Given the description of an element on the screen output the (x, y) to click on. 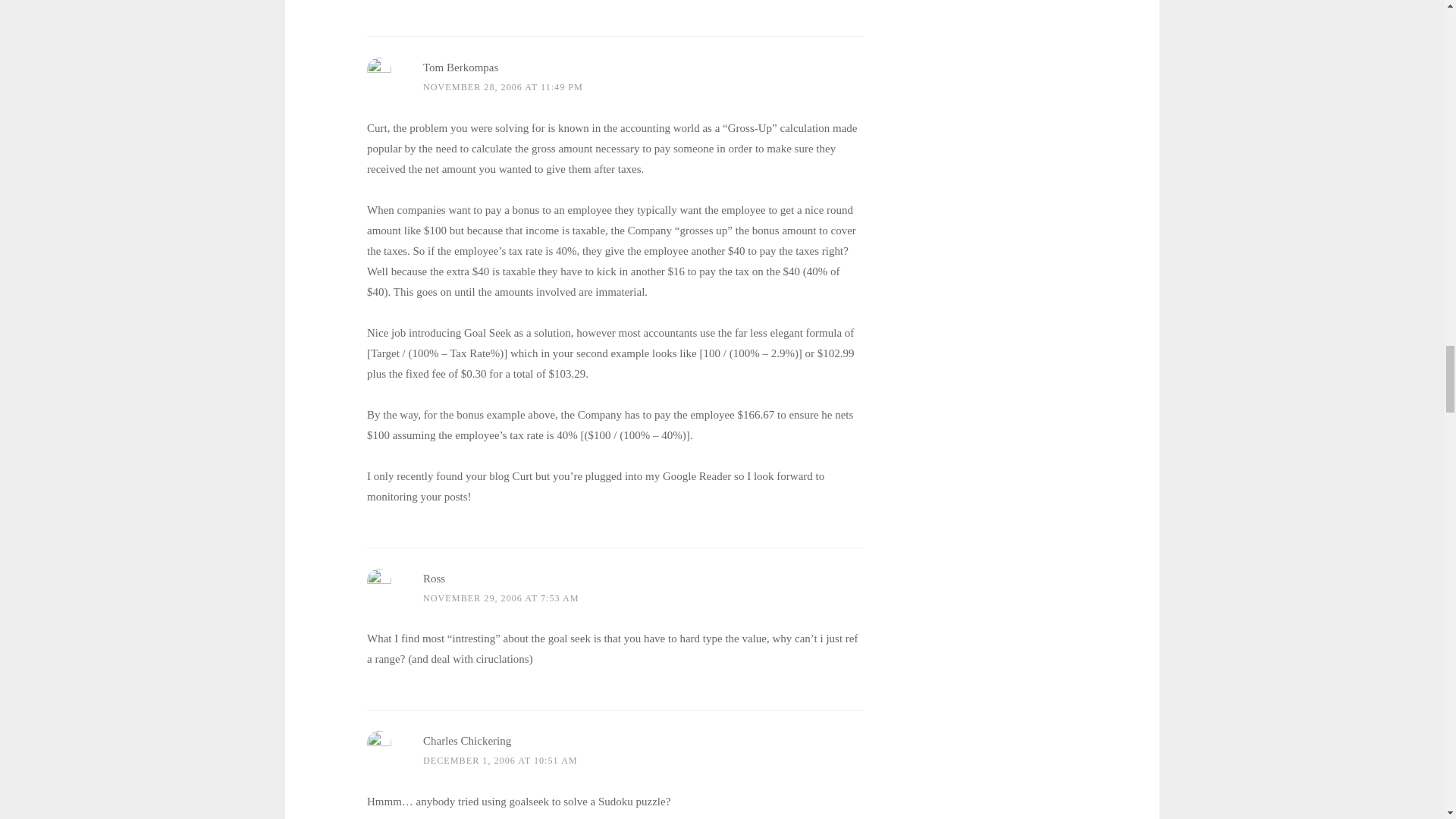
NOVEMBER 28, 2006 AT 11:49 PM (503, 86)
Tom Berkompas (460, 67)
NOVEMBER 29, 2006 AT 7:53 AM (501, 597)
DECEMBER 1, 2006 AT 10:51 AM (500, 760)
Ross (434, 578)
